Given the description of an element on the screen output the (x, y) to click on. 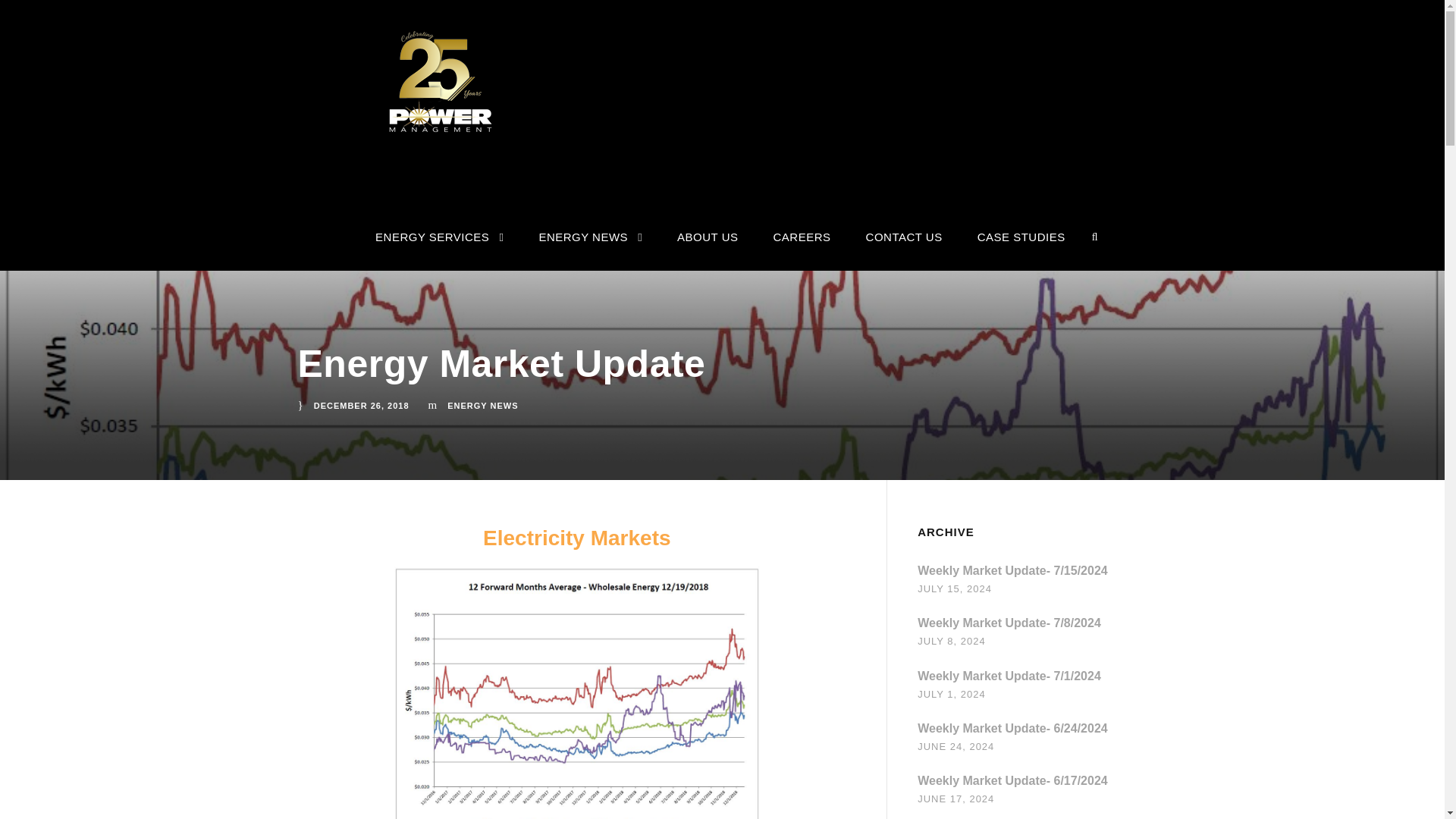
CONTACT US (904, 248)
ENERGY NEWS (482, 404)
DECEMBER 26, 2018 (361, 404)
CAREERS (802, 248)
ENERGY NEWS (590, 249)
CASE STUDIES (1020, 248)
ABOUT US (707, 248)
ENERGY SERVICES (439, 249)
